Given the description of an element on the screen output the (x, y) to click on. 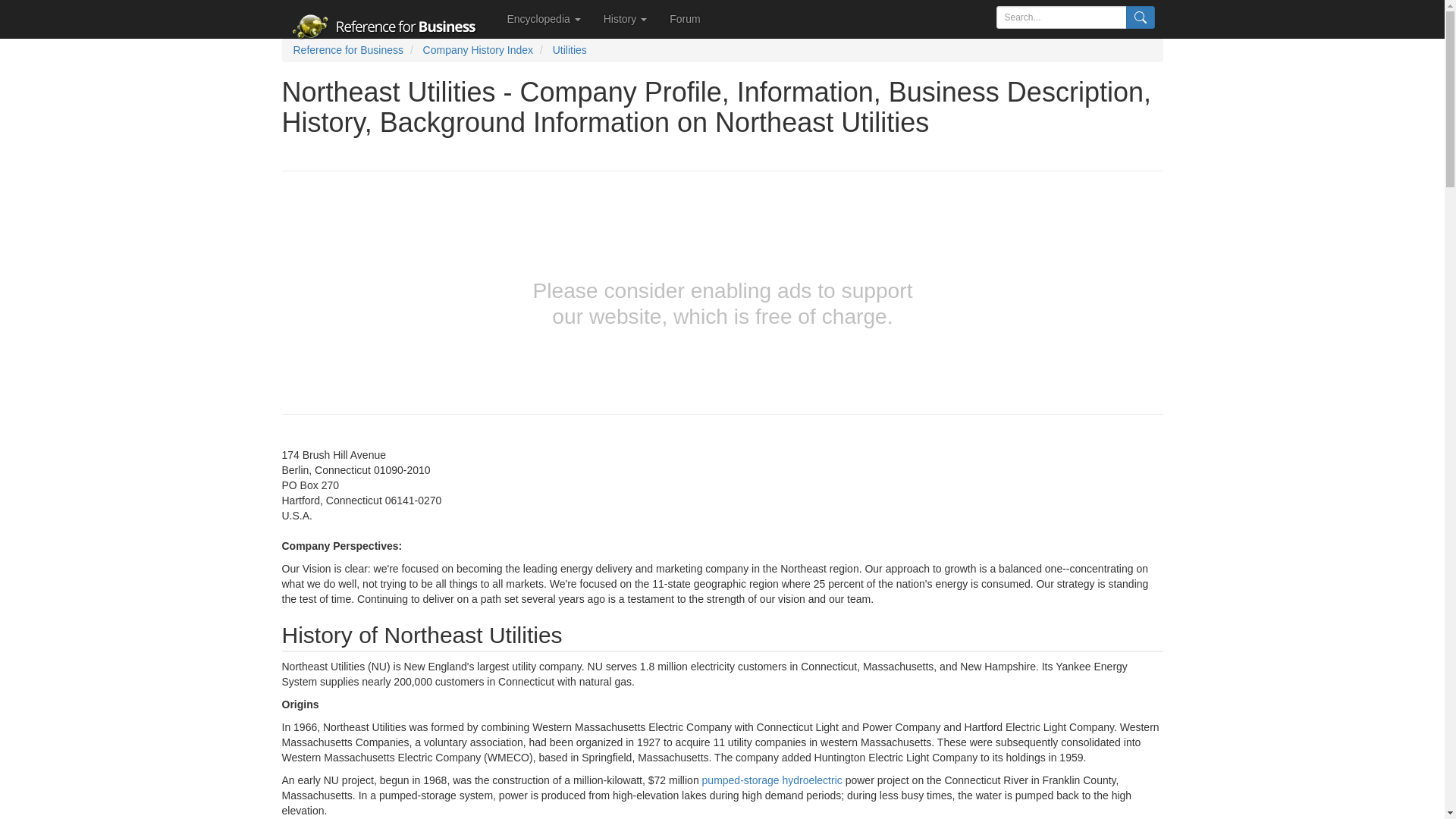
Encyclopedia (544, 18)
Company History Index (478, 50)
Reference for Business (347, 50)
Forum (684, 18)
Utilities (569, 50)
pumped-storage hydroelectric (772, 779)
History (625, 18)
